Given the description of an element on the screen output the (x, y) to click on. 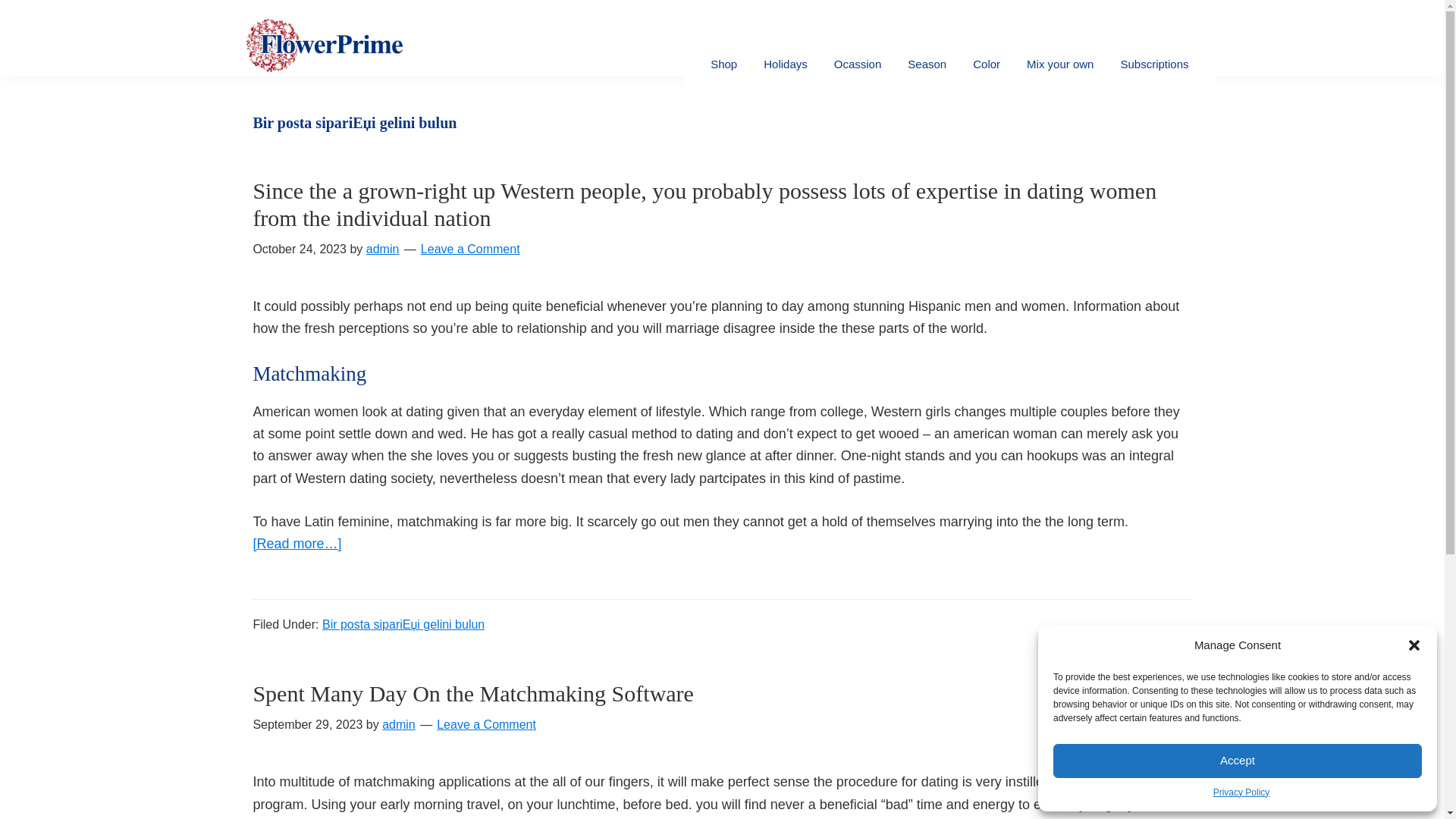
Accept (1237, 759)
Privacy Policy (1240, 792)
Shop (723, 63)
Ocassion (857, 63)
Holidays (785, 63)
